Given the description of an element on the screen output the (x, y) to click on. 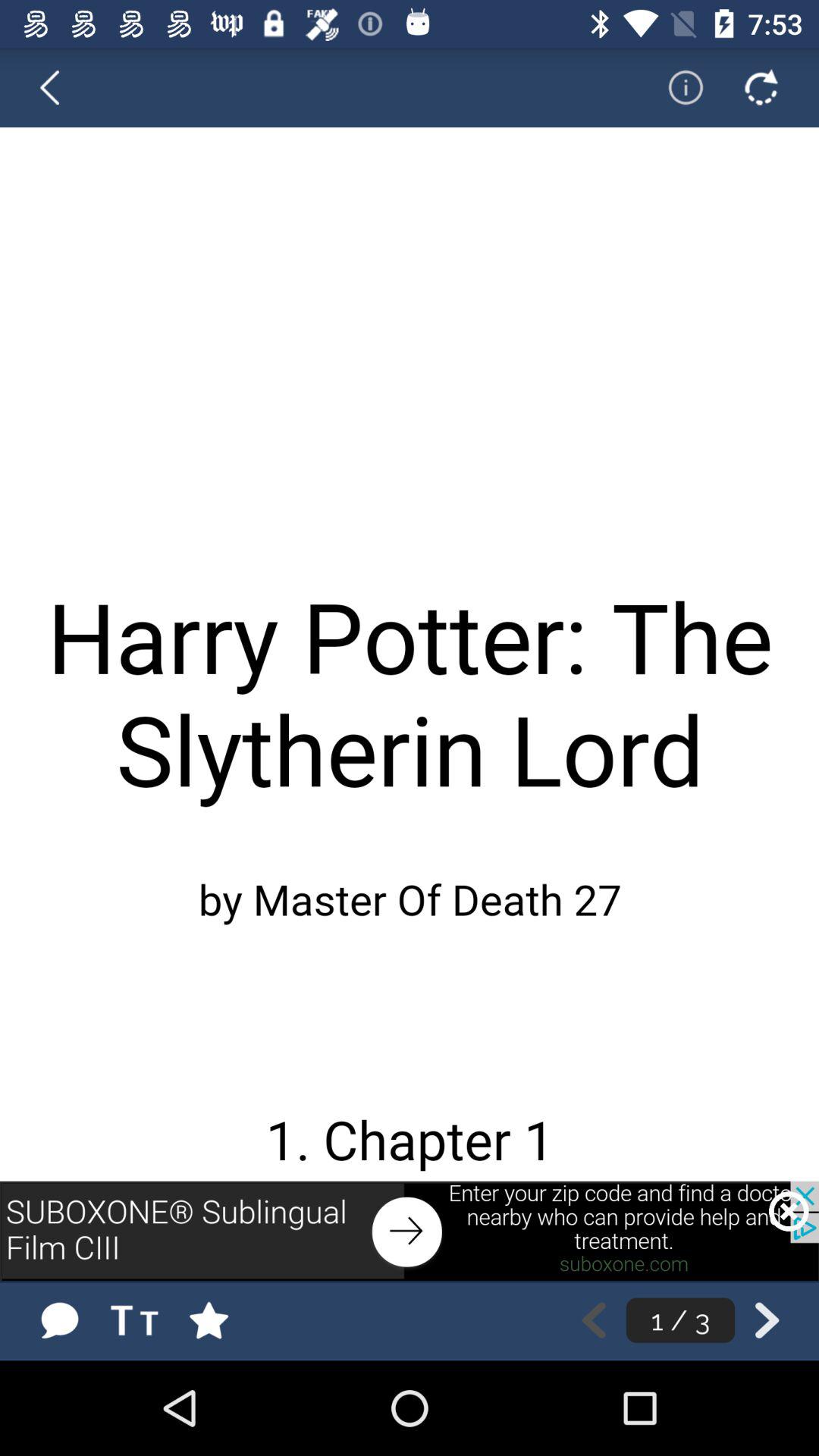
go to back (767, 1320)
